Given the description of an element on the screen output the (x, y) to click on. 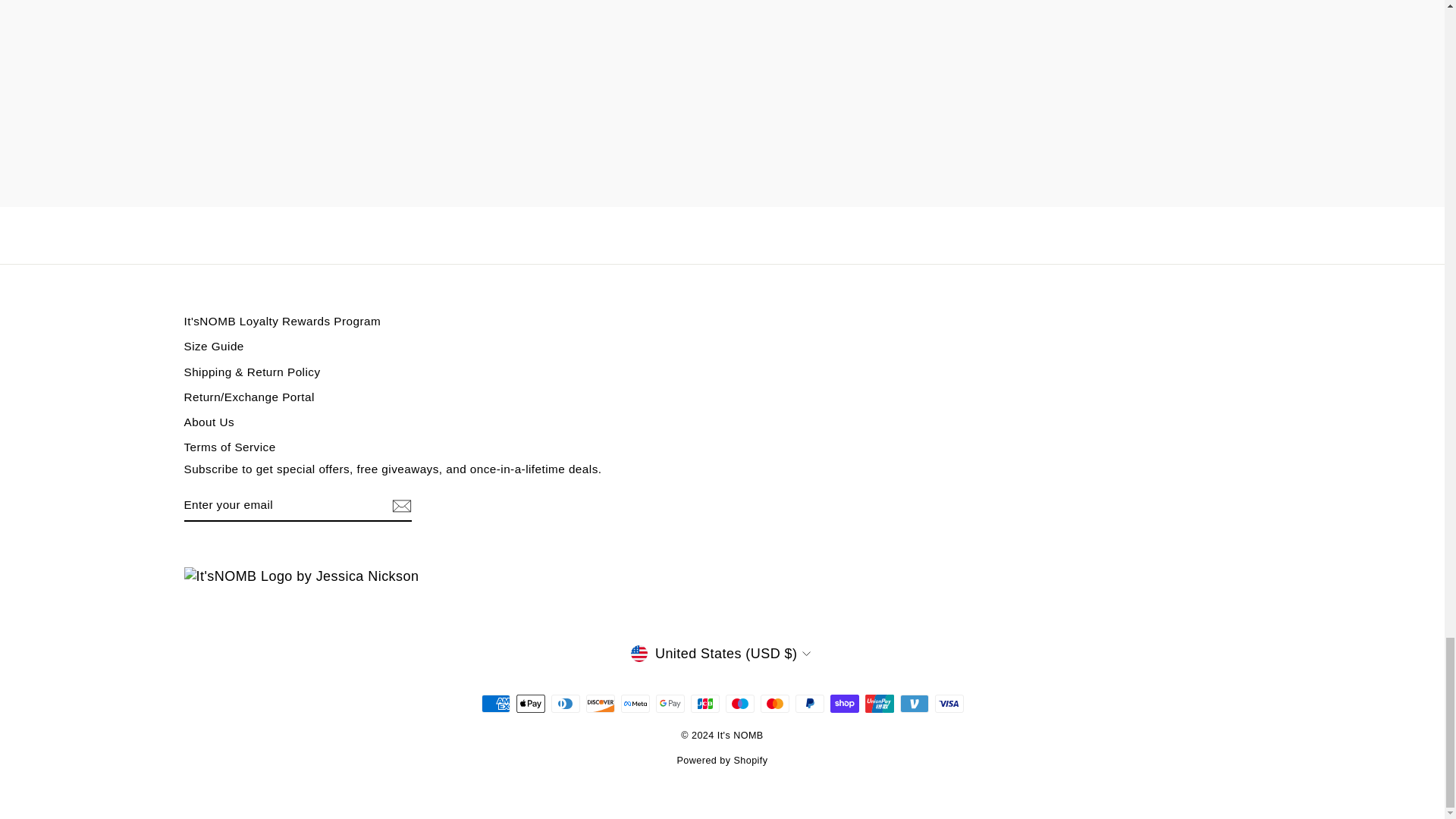
Diners Club (564, 703)
Apple Pay (529, 703)
Maestro (739, 703)
Meta Pay (634, 703)
American Express (494, 703)
JCB (704, 703)
Shop Pay (844, 703)
Google Pay (669, 703)
Union Pay (878, 703)
Discover (599, 703)
